Given the description of an element on the screen output the (x, y) to click on. 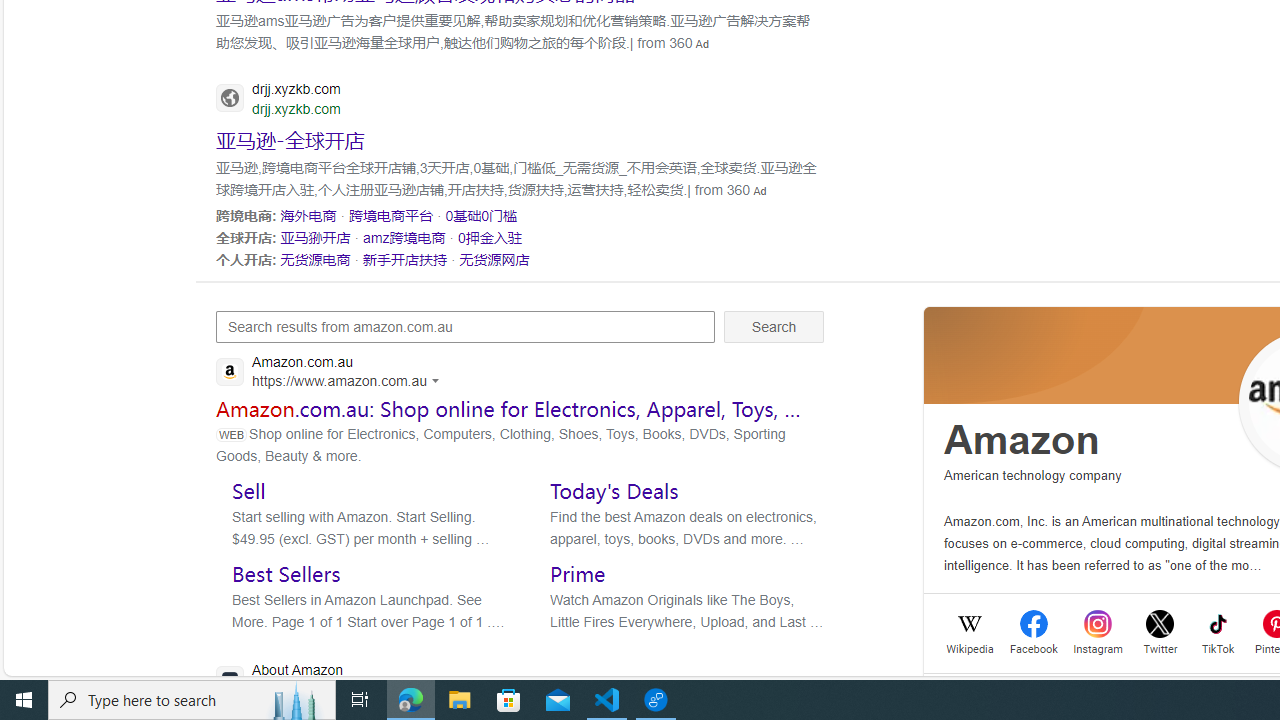
Actions for this site (438, 380)
Edge Feedback - 1 running window (656, 699)
Amazon (1021, 440)
Amazon.com.au (333, 373)
Instagram (1097, 646)
Prime (577, 573)
Microsoft Store (509, 699)
Twitter (1160, 646)
Search highlights icon opens search home window (295, 699)
Best Sellers (285, 573)
